Given the description of an element on the screen output the (x, y) to click on. 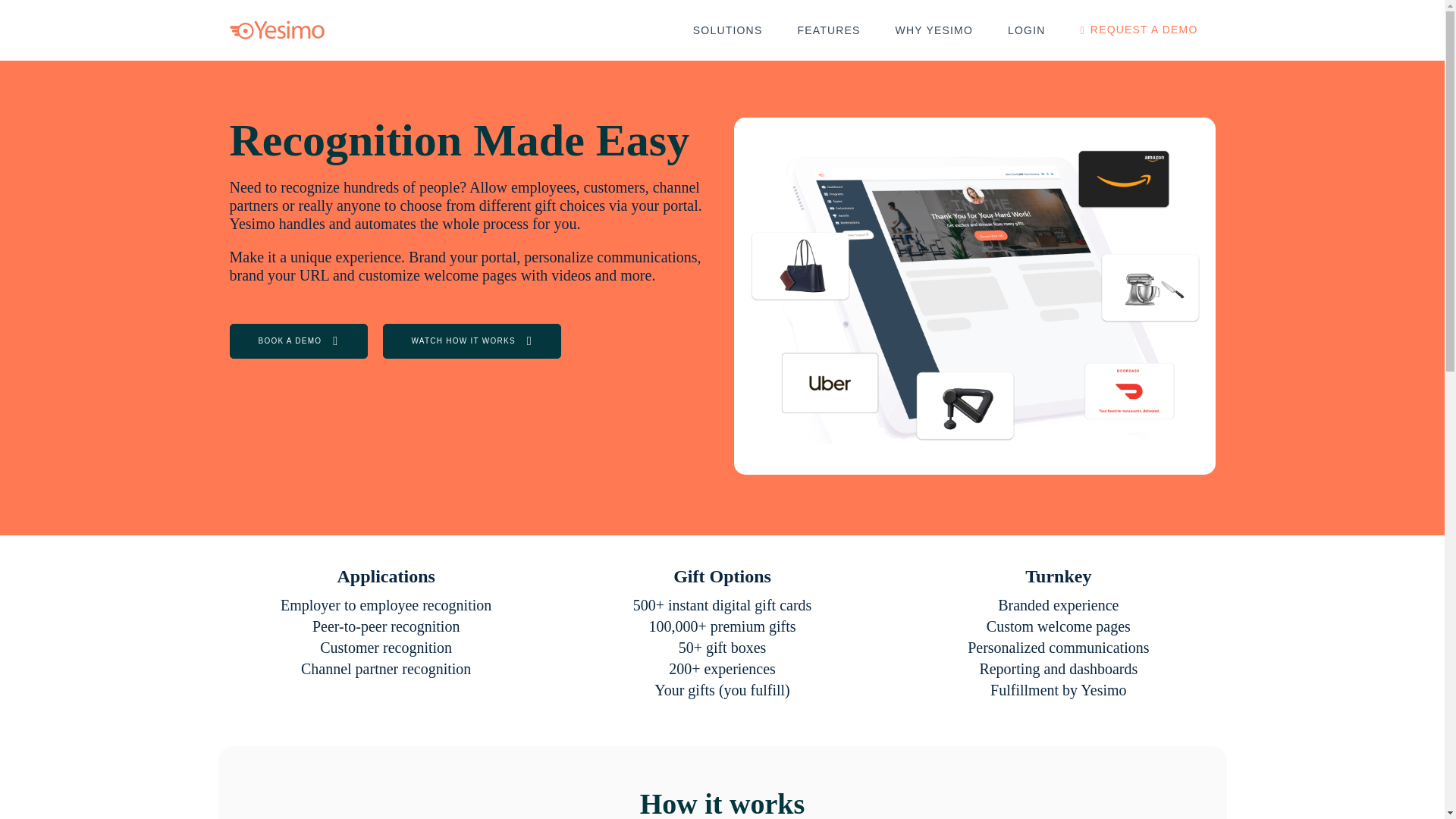
LOGIN (1026, 30)
REQUEST A DEMO (1138, 30)
WHY YESIMO (933, 30)
FEATURES (827, 30)
SOLUTIONS (727, 30)
